Given the description of an element on the screen output the (x, y) to click on. 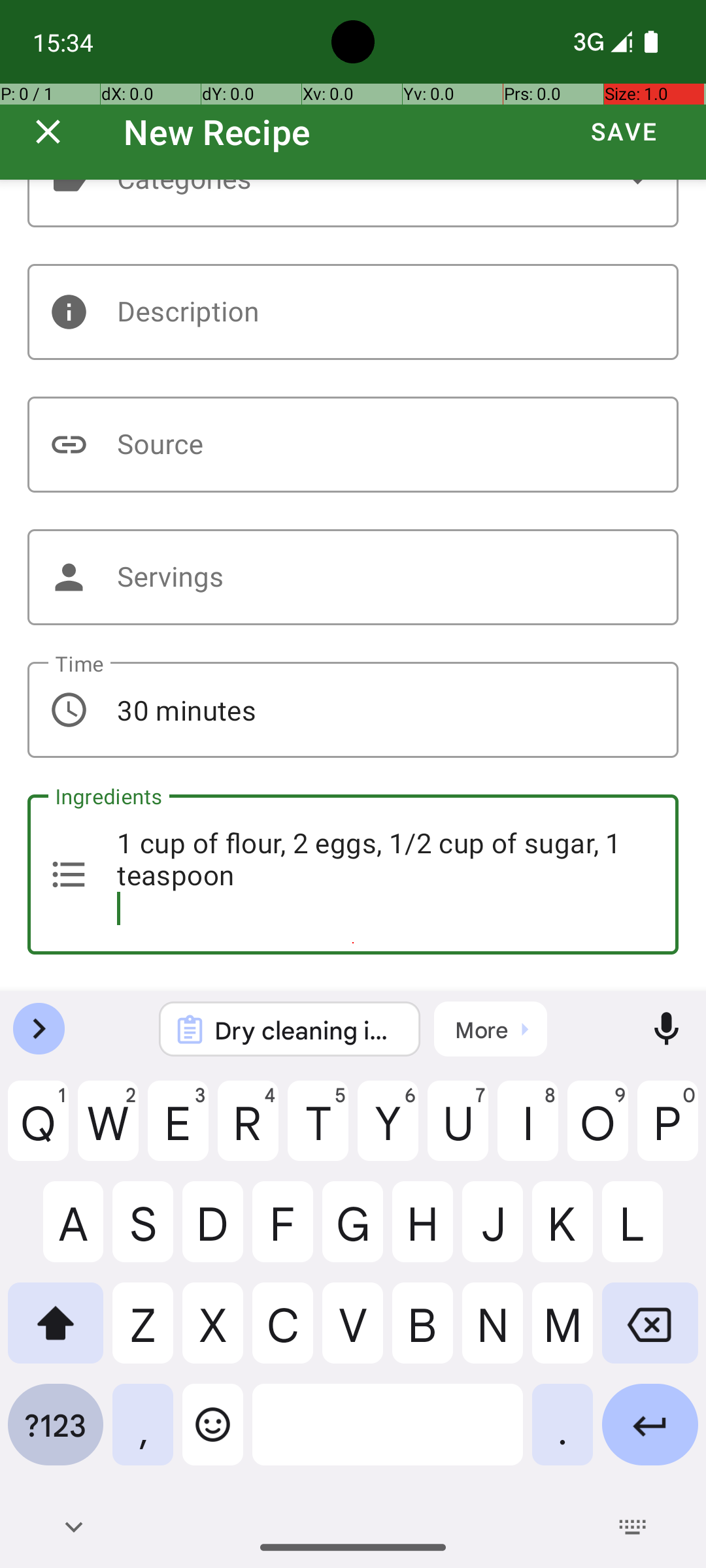
30 minutes Element type: android.widget.EditText (352, 709)
1 cup of flour, 2 eggs, 1/2 cup of sugar, 1 teaspoon
 Element type: android.widget.EditText (352, 874)
Dry cleaning is ready for pick-up. Element type: android.widget.TextView (306, 1029)
